Given the description of an element on the screen output the (x, y) to click on. 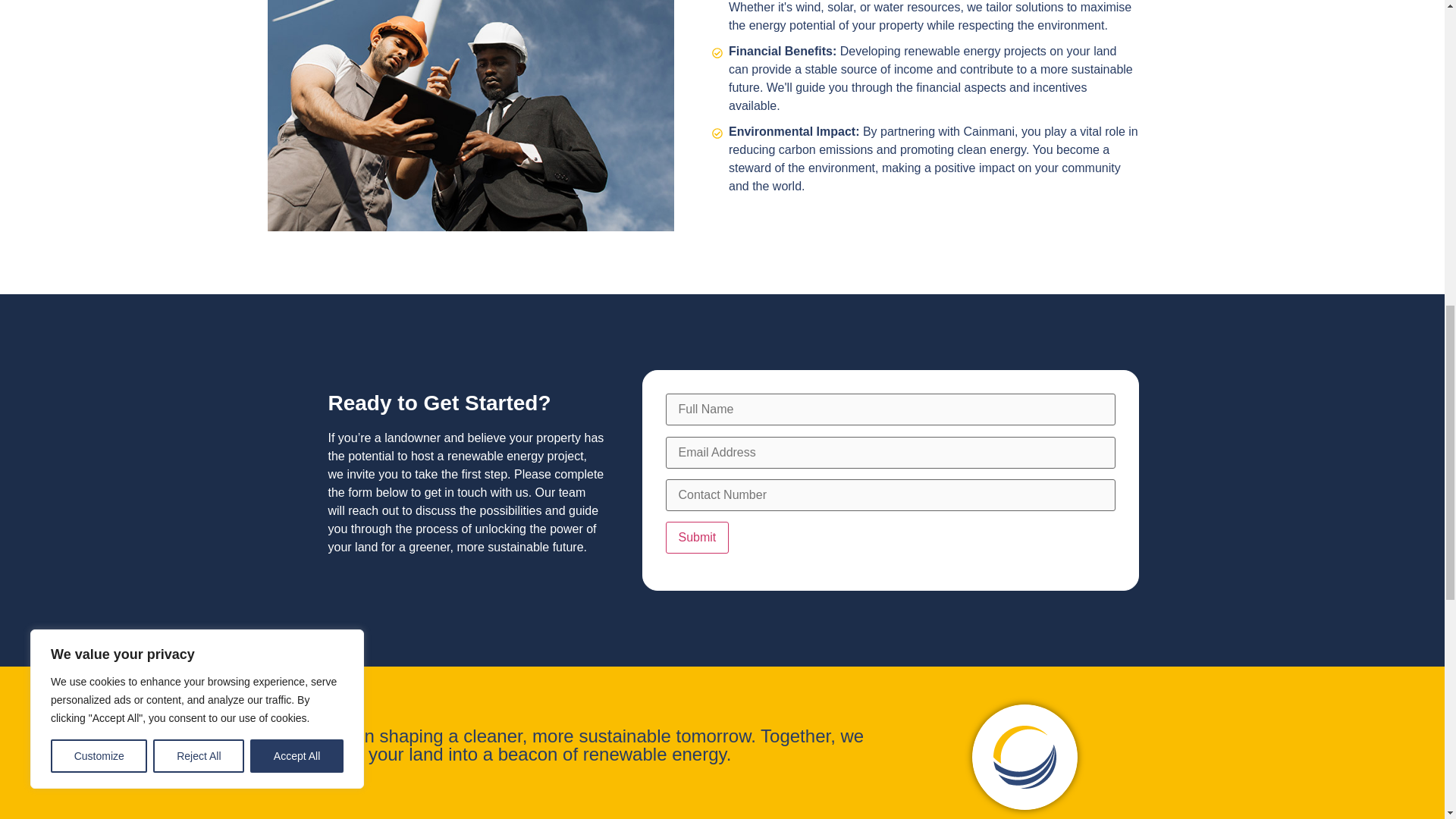
Submit (697, 537)
Submit (697, 537)
